Given the description of an element on the screen output the (x, y) to click on. 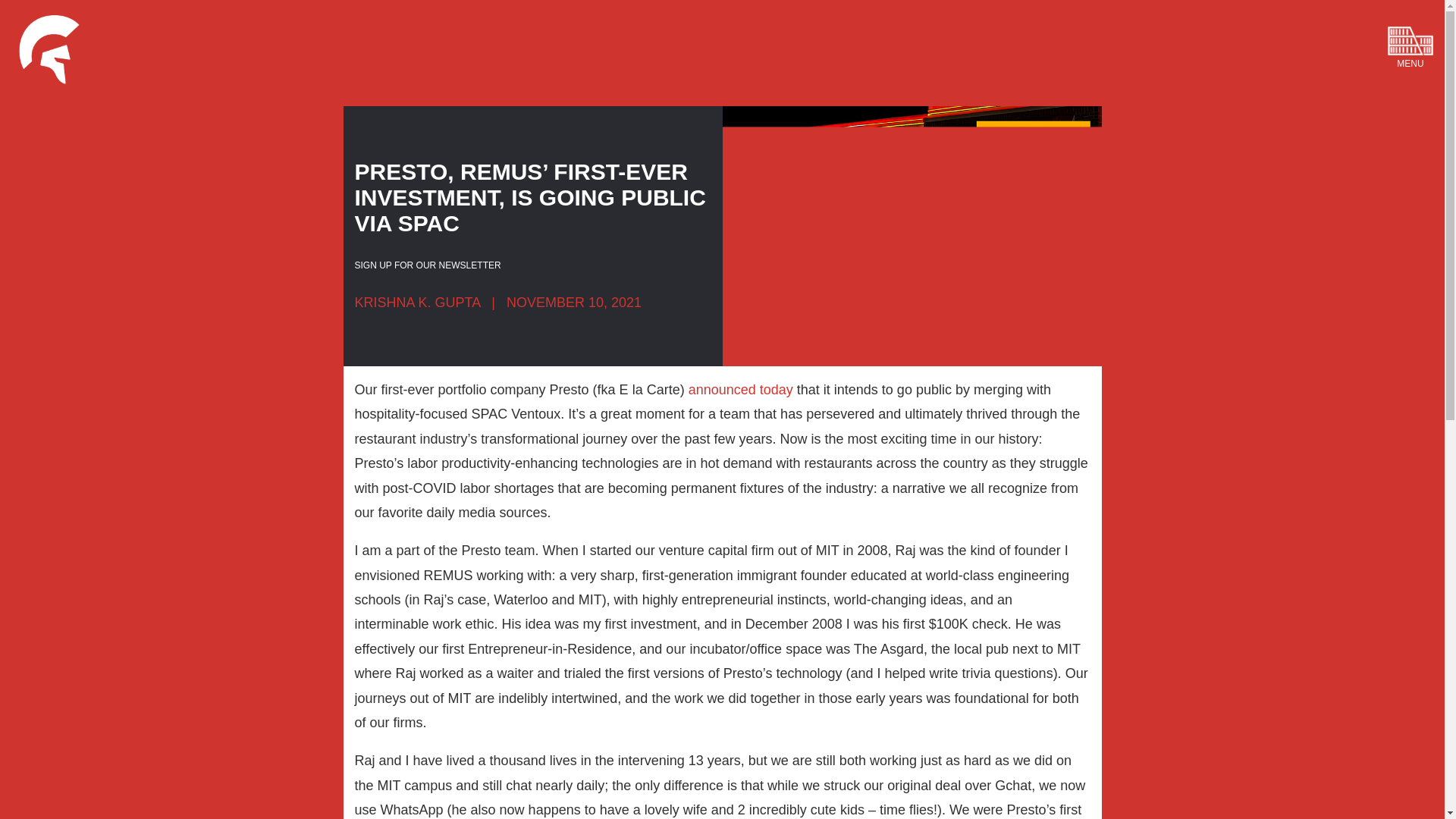
announced today (740, 389)
SIGN UP FOR OUR NEWSLETTER (427, 265)
MENU (1394, 30)
